Given the description of an element on the screen output the (x, y) to click on. 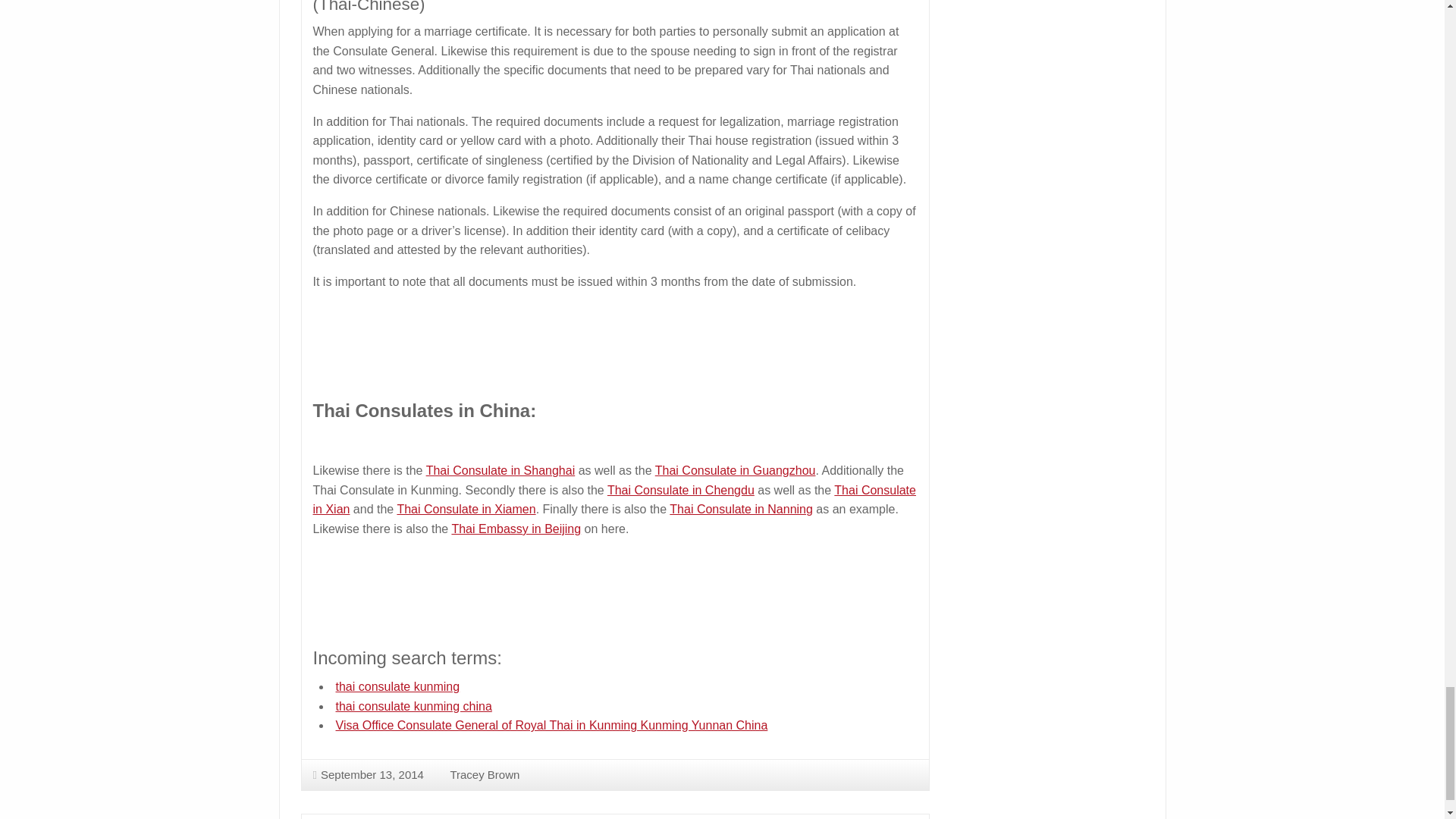
thai consulate kunming (397, 686)
Thai Consulate in Guangzhou (735, 470)
thai consulate kunming china (413, 706)
